Given the description of an element on the screen output the (x, y) to click on. 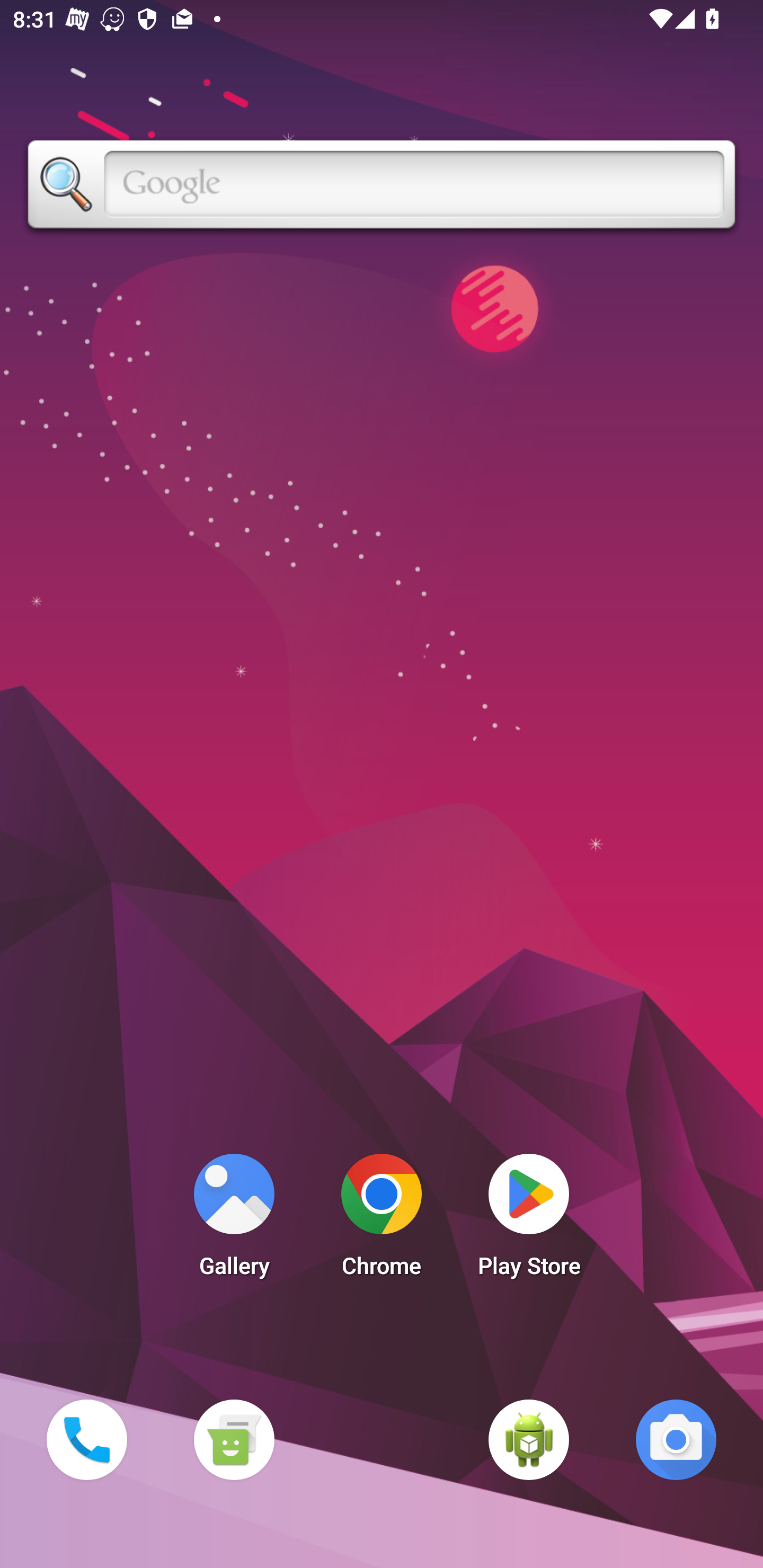
Gallery (233, 1220)
Chrome (381, 1220)
Play Store (528, 1220)
Phone (86, 1439)
Messaging (233, 1439)
WebView Browser Tester (528, 1439)
Camera (676, 1439)
